Given the description of an element on the screen output the (x, y) to click on. 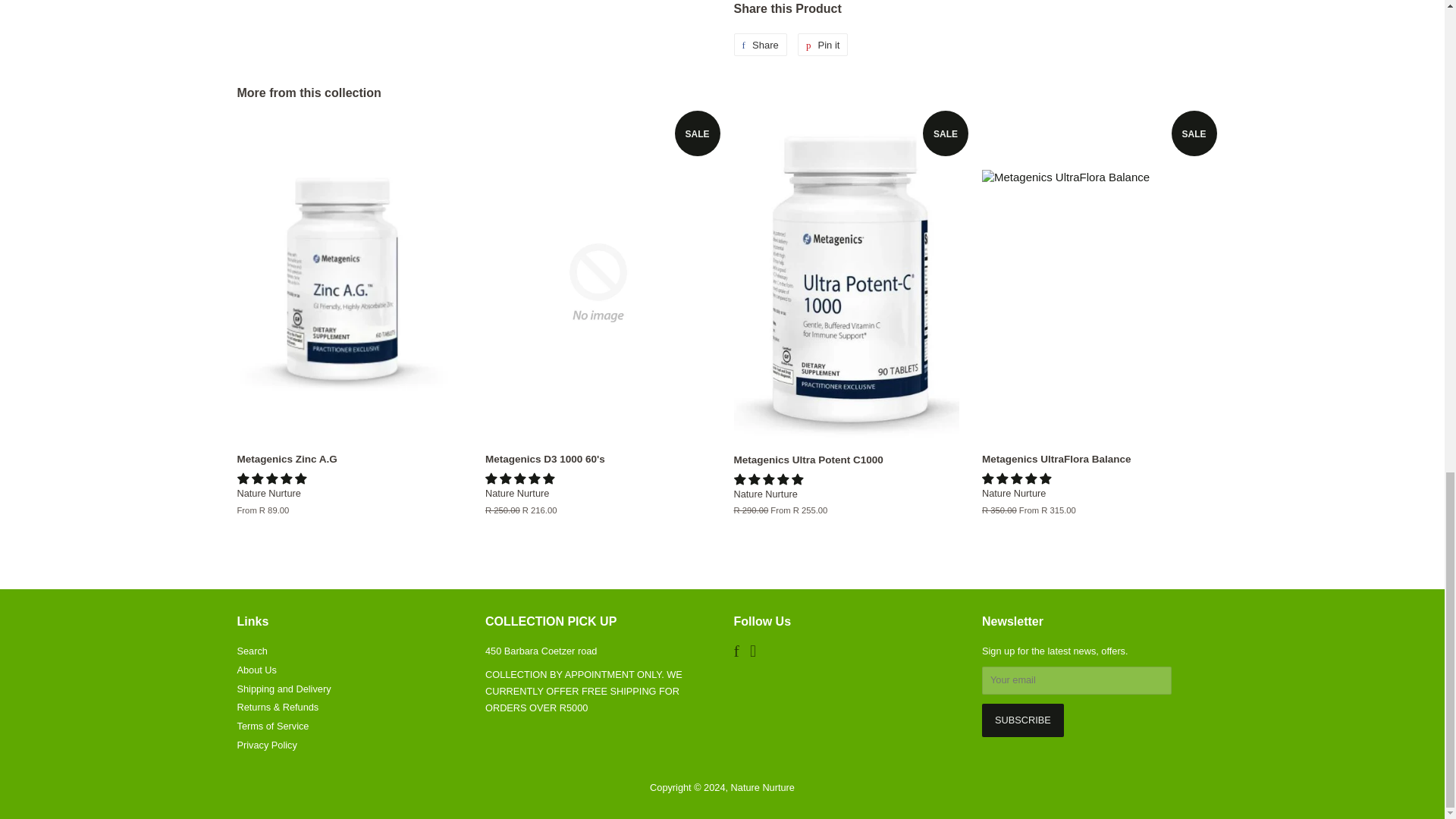
Pin on Pinterest (822, 44)
Share on Facebook (760, 44)
Subscribe (1022, 720)
